Given the description of an element on the screen output the (x, y) to click on. 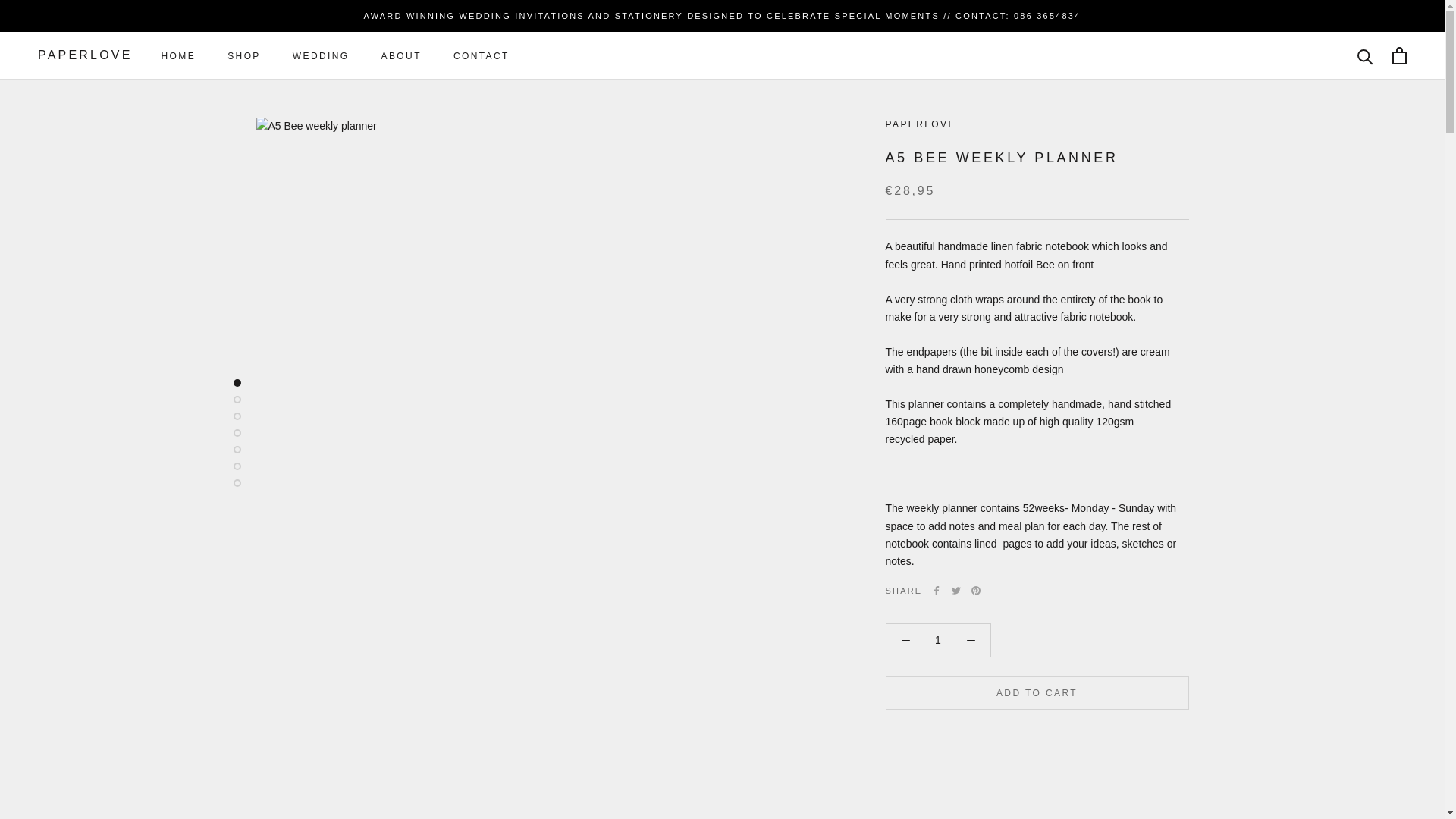
SHOP (243, 55)
1 (178, 55)
WEDDING (938, 639)
